Given the description of an element on the screen output the (x, y) to click on. 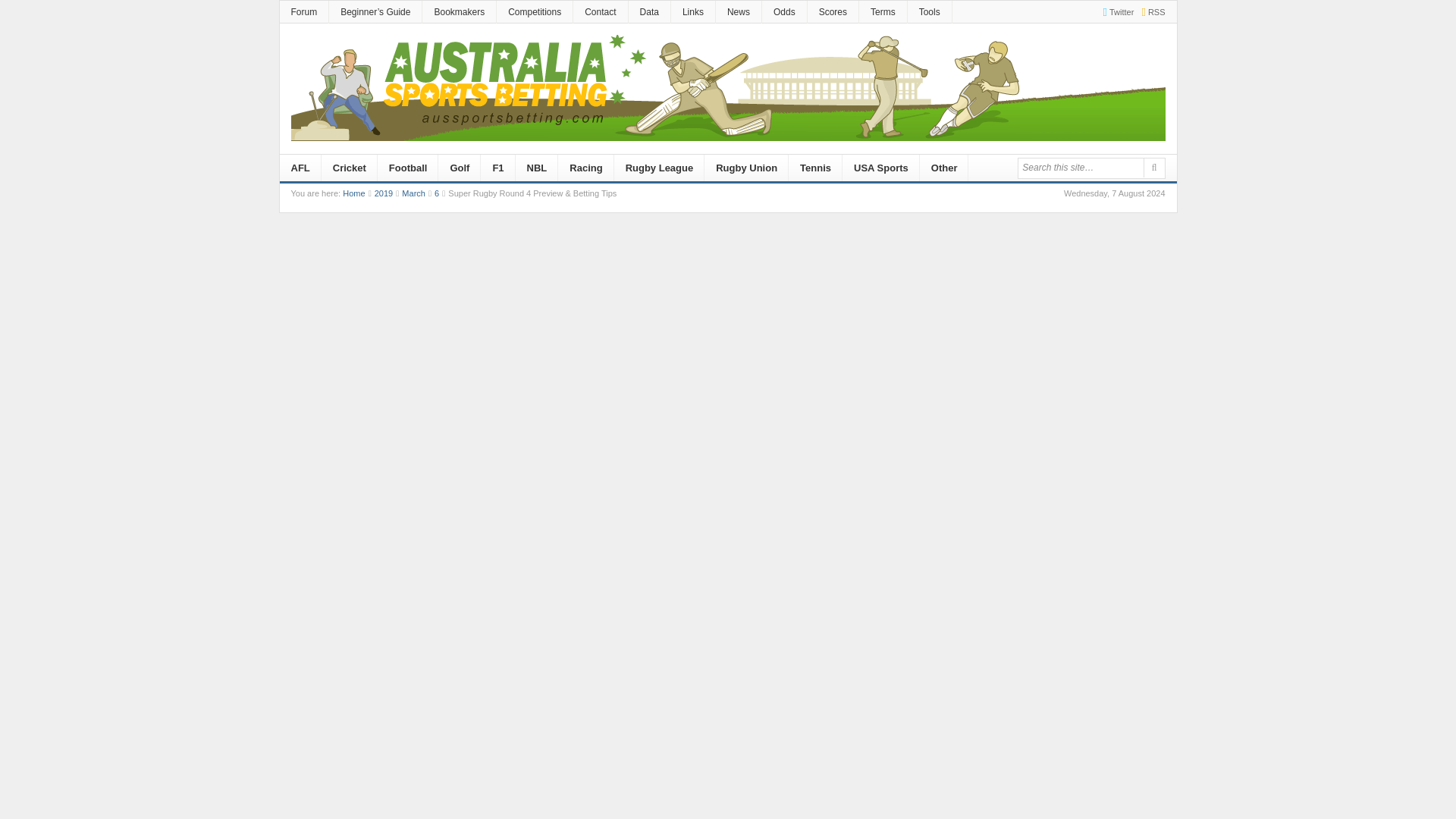
RSS (1149, 11)
Forum (304, 11)
Bookmakers (459, 11)
Australia Sports Betting (353, 193)
Twitter (1114, 11)
